Given the description of an element on the screen output the (x, y) to click on. 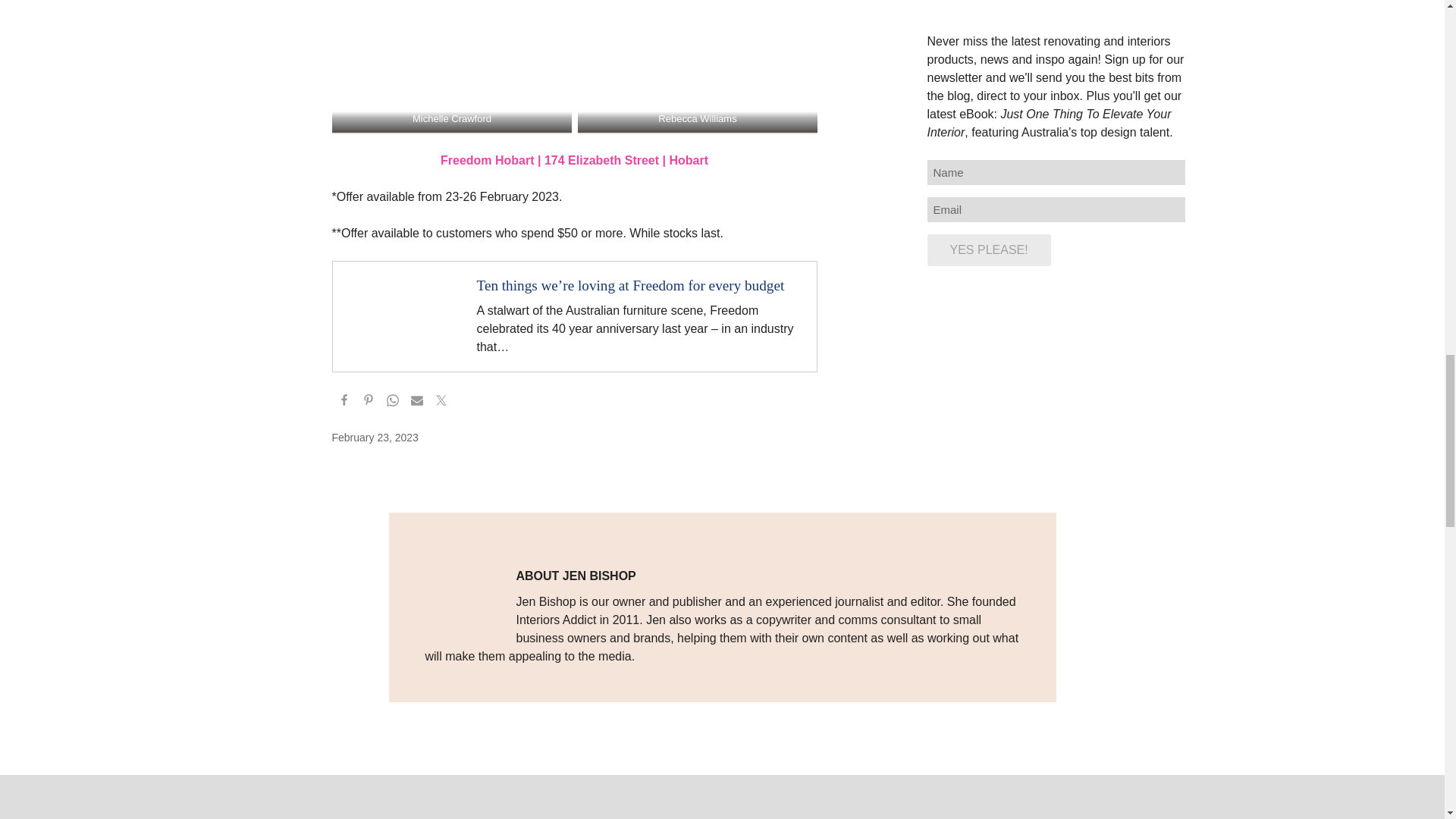
Share on Pinterest (368, 402)
YES PLEASE! (987, 250)
Share via Email (416, 402)
Share on Facebook (343, 402)
Share on Twitter (440, 402)
Ten things we're loving at Freedom for every budget (573, 316)
